Given the description of an element on the screen output the (x, y) to click on. 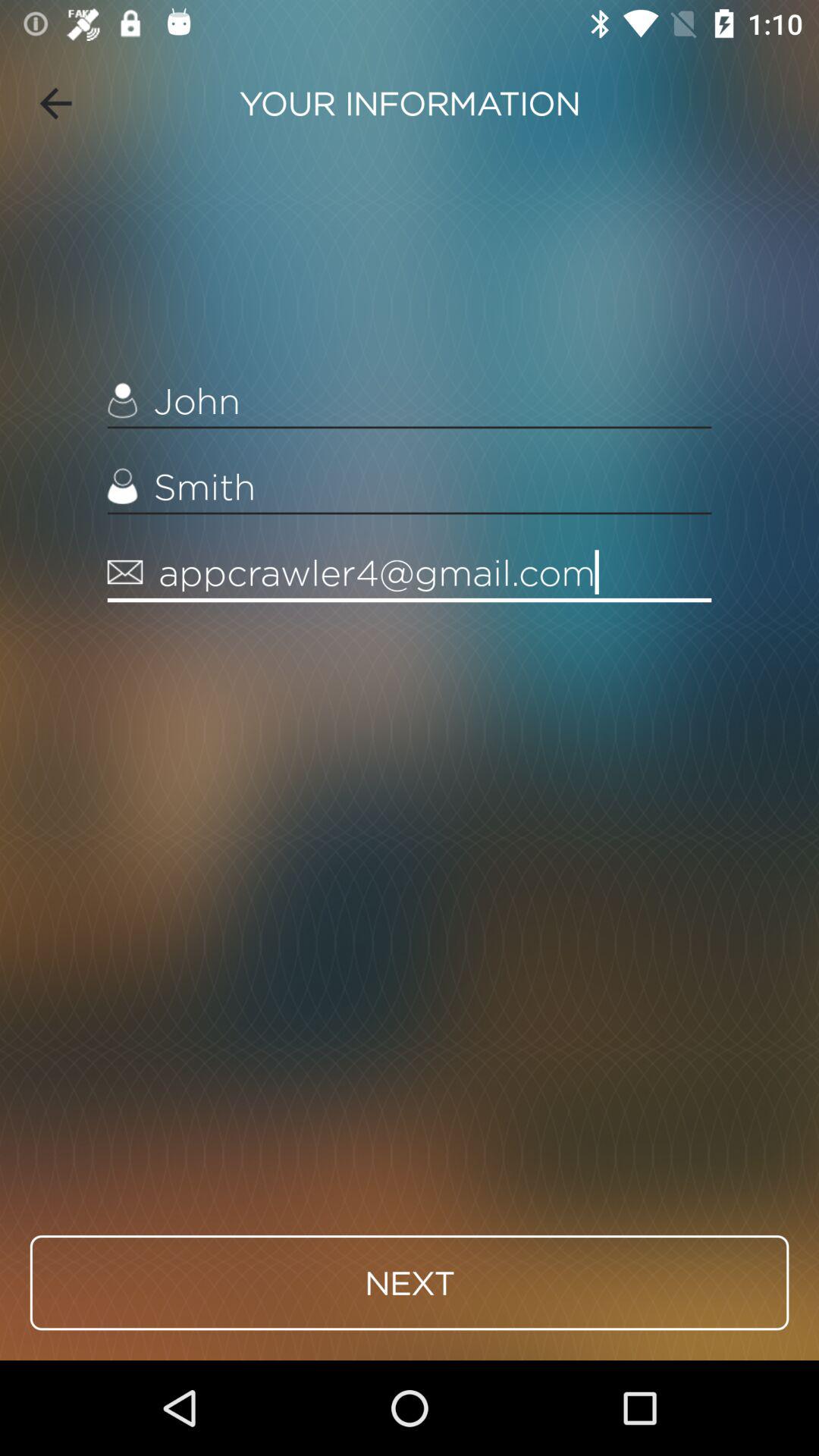
press the icon below the john item (409, 487)
